Given the description of an element on the screen output the (x, y) to click on. 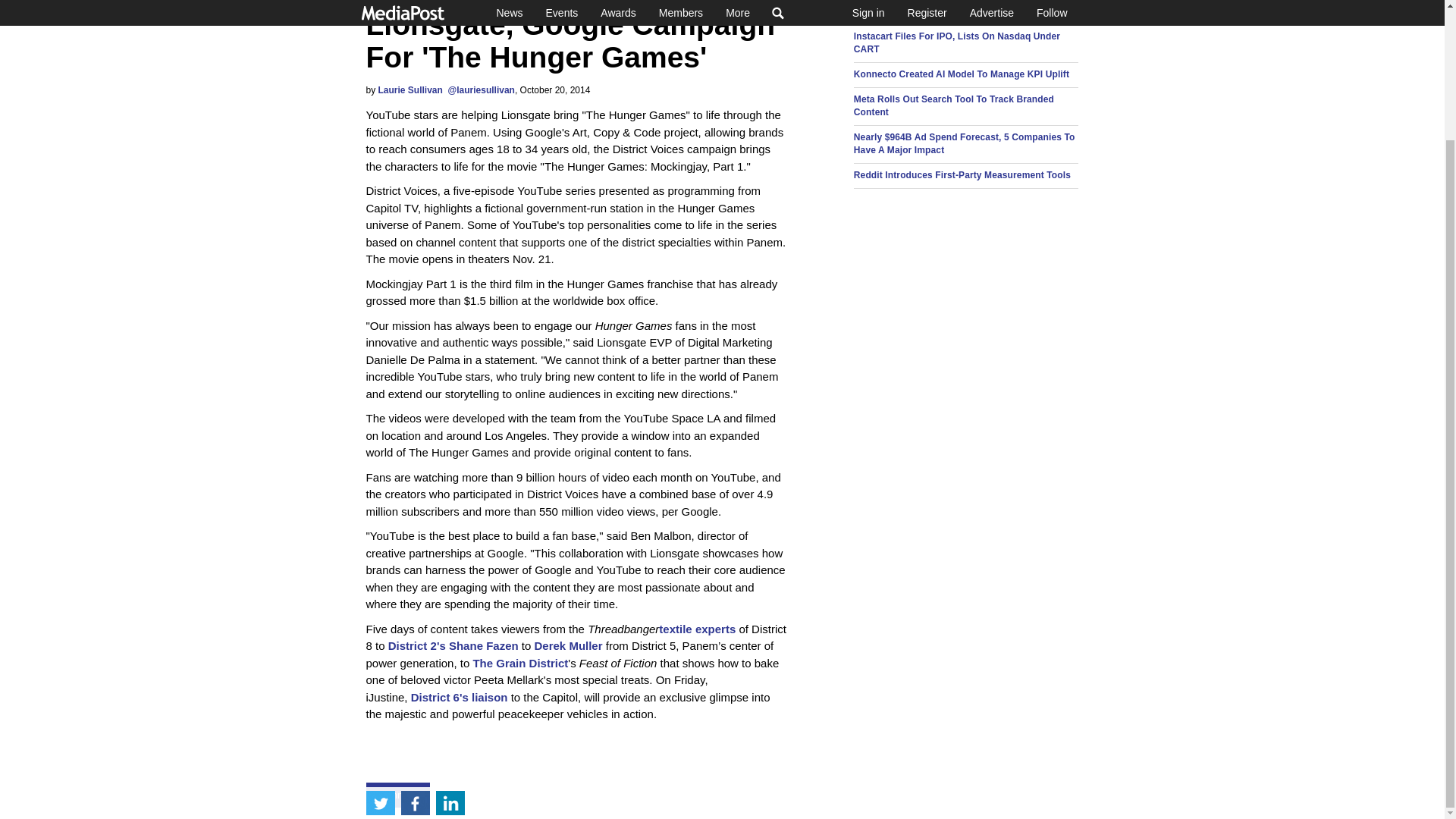
Share on LinkedIn (449, 645)
Share on Facebook (414, 645)
Share on Twitter (379, 645)
